Given the description of an element on the screen output the (x, y) to click on. 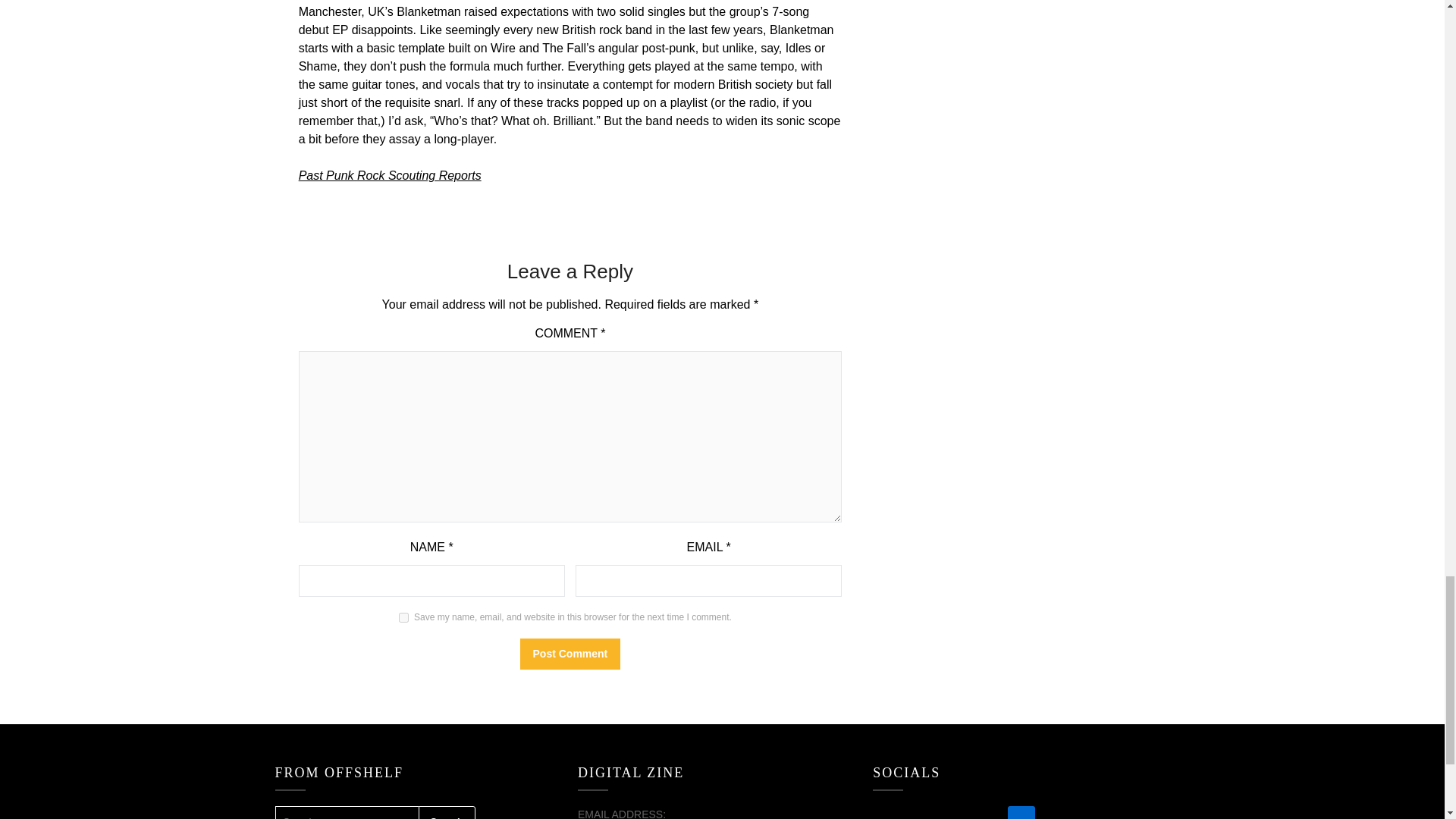
Search (447, 812)
yes (403, 617)
Past Punk Rock Scouting Reports (389, 174)
Post Comment (570, 653)
Post Comment (570, 653)
Search (447, 812)
